Given the description of an element on the screen output the (x, y) to click on. 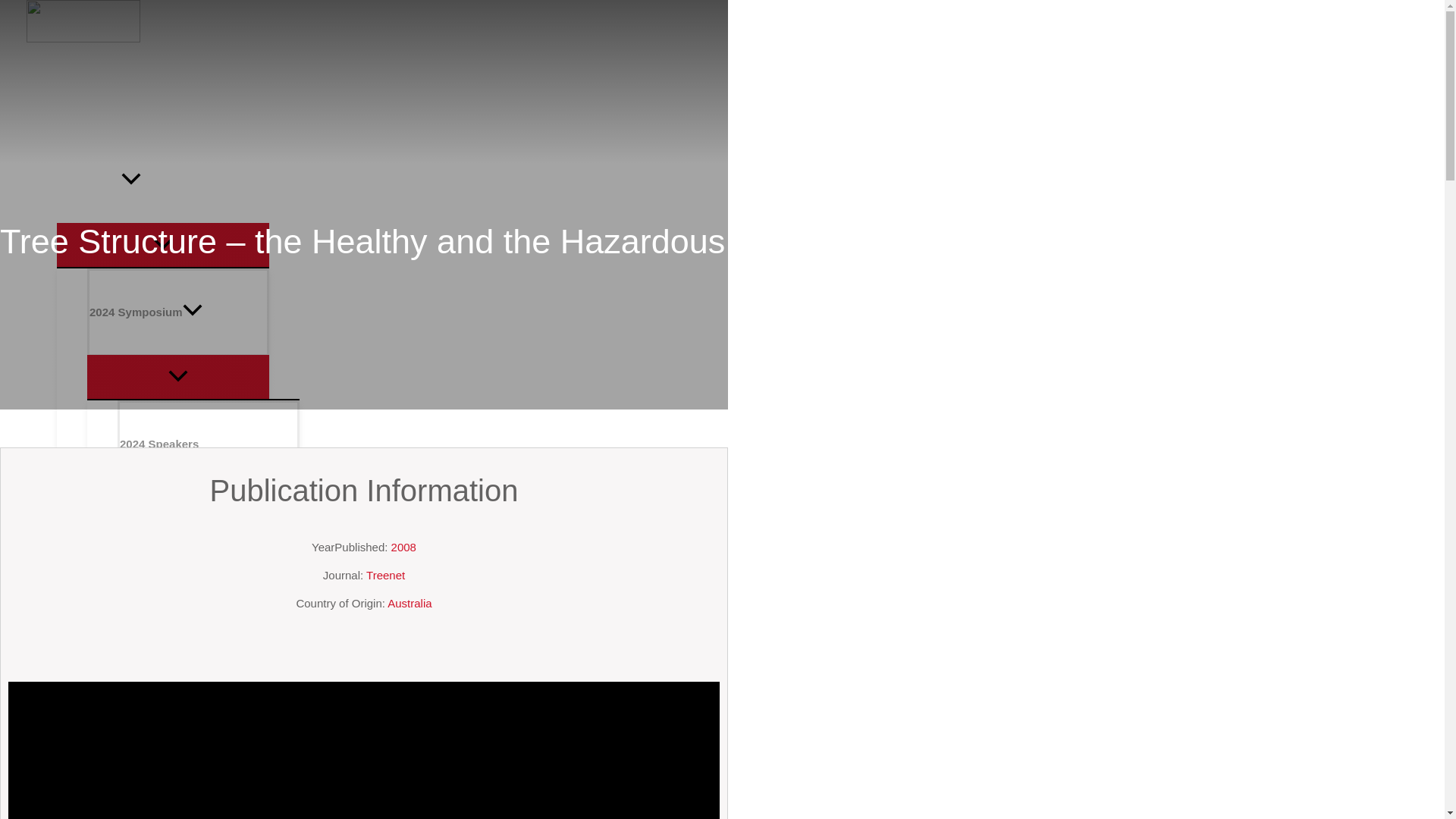
MENU TOGGLE (162, 244)
Symposium (162, 180)
2024 Symposium (178, 311)
Home (162, 97)
MENU TOGGLE (178, 376)
2024 Speakers (208, 443)
vimeo Video Player (363, 750)
Symposium Yearly Downloads (178, 782)
2024 Sponsors (208, 529)
2024 Symposium Fees (208, 616)
